Given the description of an element on the screen output the (x, y) to click on. 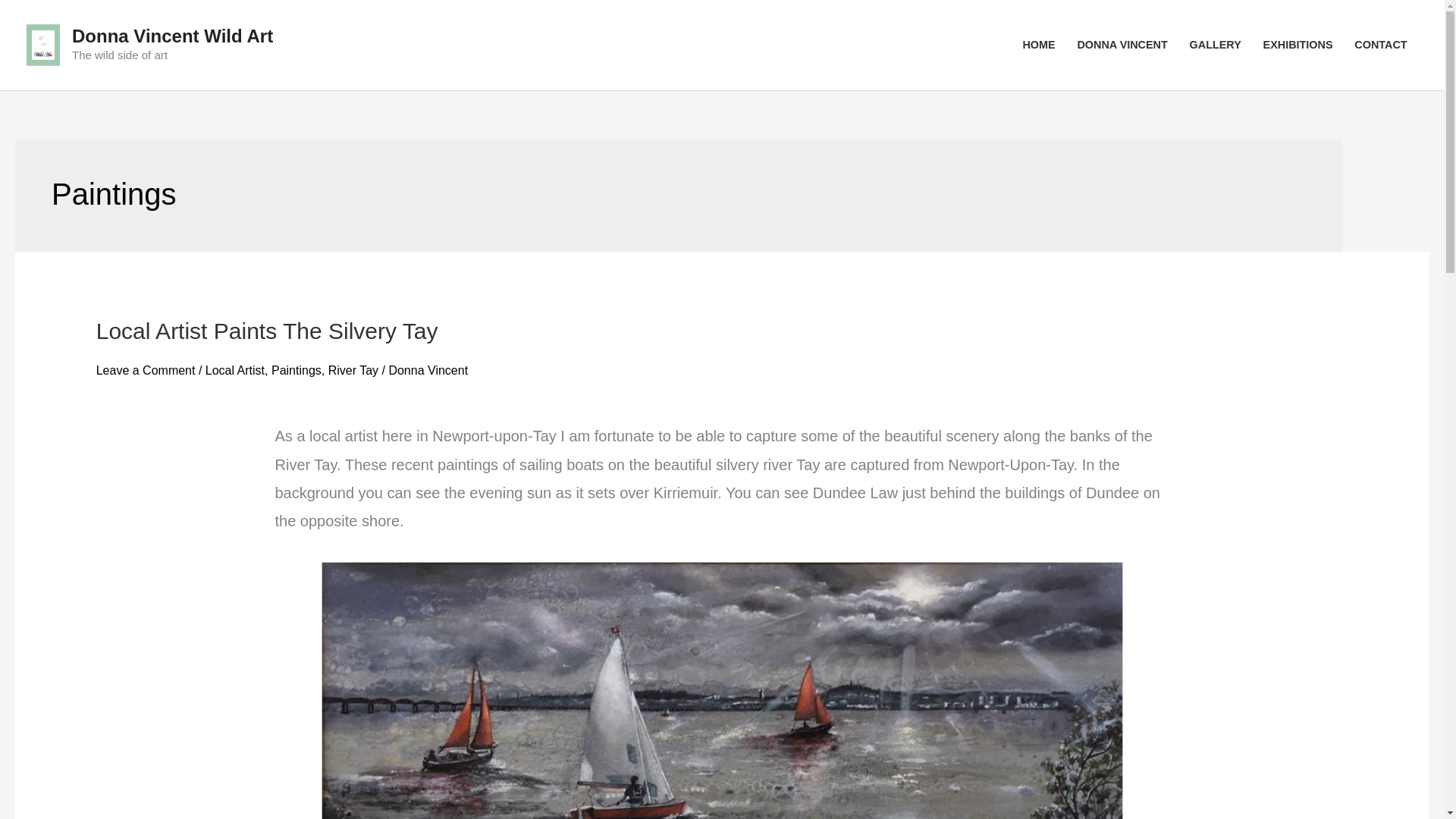
EXHIBITIONS (1297, 44)
River Tay (353, 369)
GALLERY (1214, 44)
Paintings (295, 369)
Donna Vincent (427, 369)
HOME (1038, 44)
Donna Vincent Wild Art (172, 35)
Local Artist Paints The Silvery Tay (267, 330)
Leave a Comment (145, 369)
Local Artist (234, 369)
DONNA VINCENT (1121, 44)
CONTACT (1380, 44)
View all posts by Donna Vincent (427, 369)
